Given the description of an element on the screen output the (x, y) to click on. 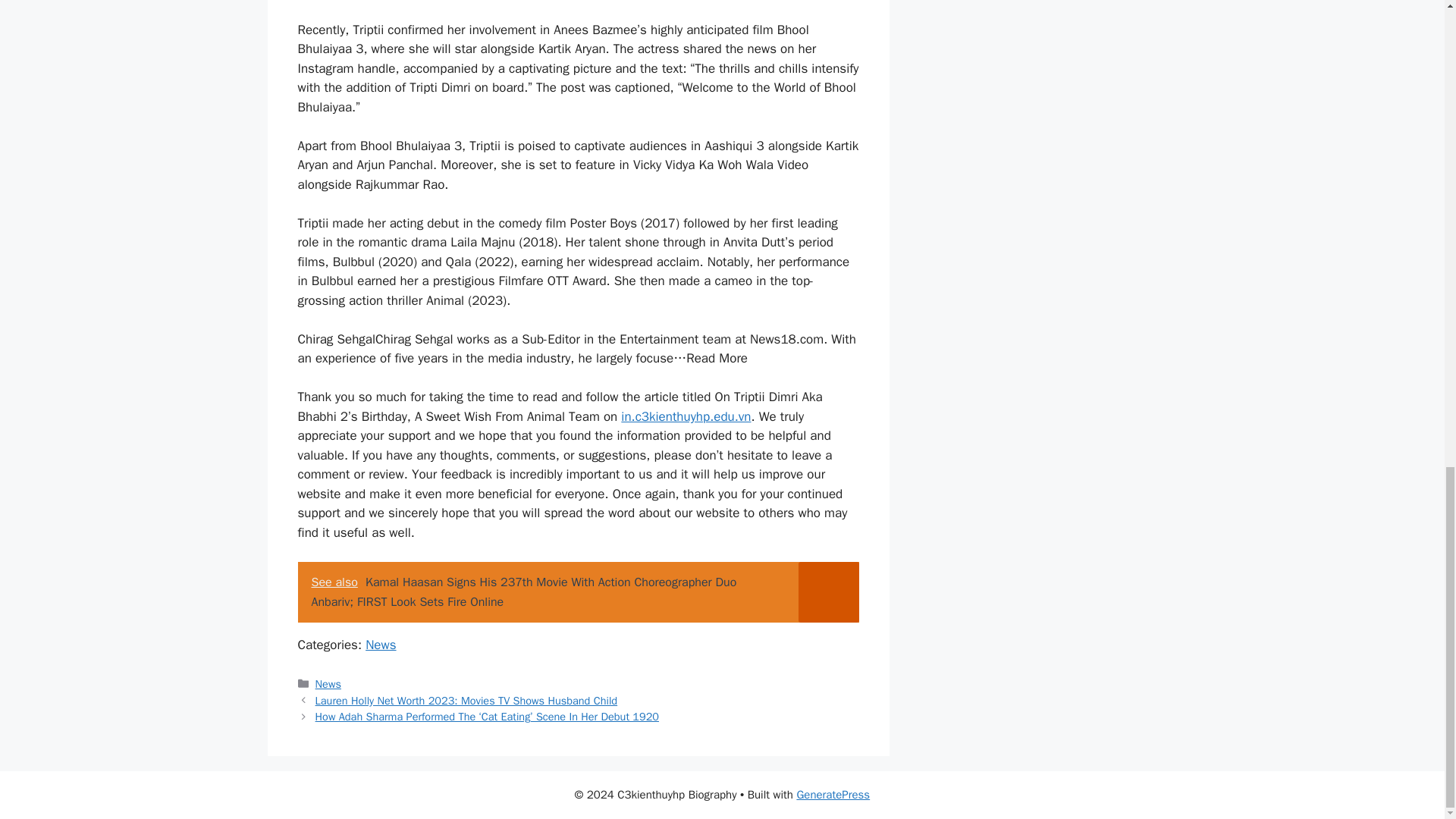
in.c3kienthuyhp.edu.vn (686, 416)
News (327, 684)
News (380, 644)
Lauren Holly Net Worth 2023: Movies TV Shows Husband Child (466, 700)
GeneratePress (832, 794)
